Given the description of an element on the screen output the (x, y) to click on. 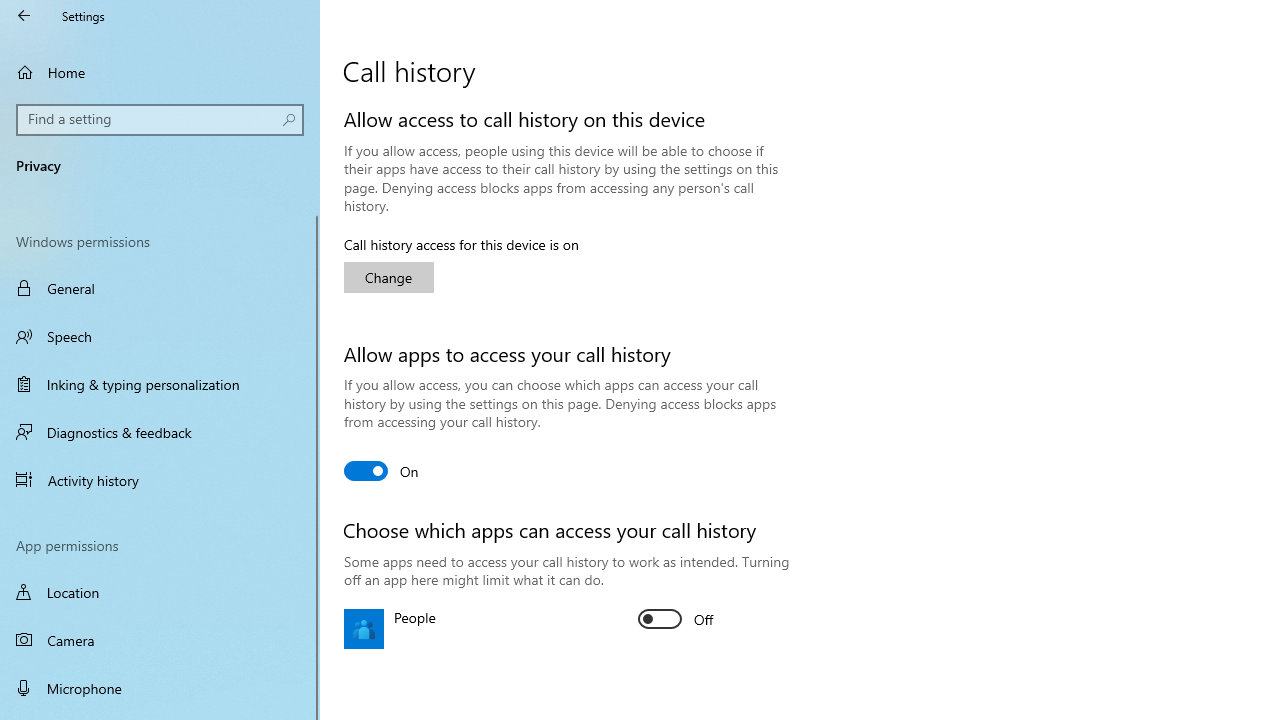
Location (160, 592)
Microphone (160, 687)
People (675, 619)
Diagnostics & feedback (160, 431)
Inking & typing personalization (160, 384)
Change (388, 277)
Activity history (160, 479)
Camera (160, 639)
Speech (160, 335)
Allow apps to access your call history (381, 470)
General (160, 287)
